Given the description of an element on the screen output the (x, y) to click on. 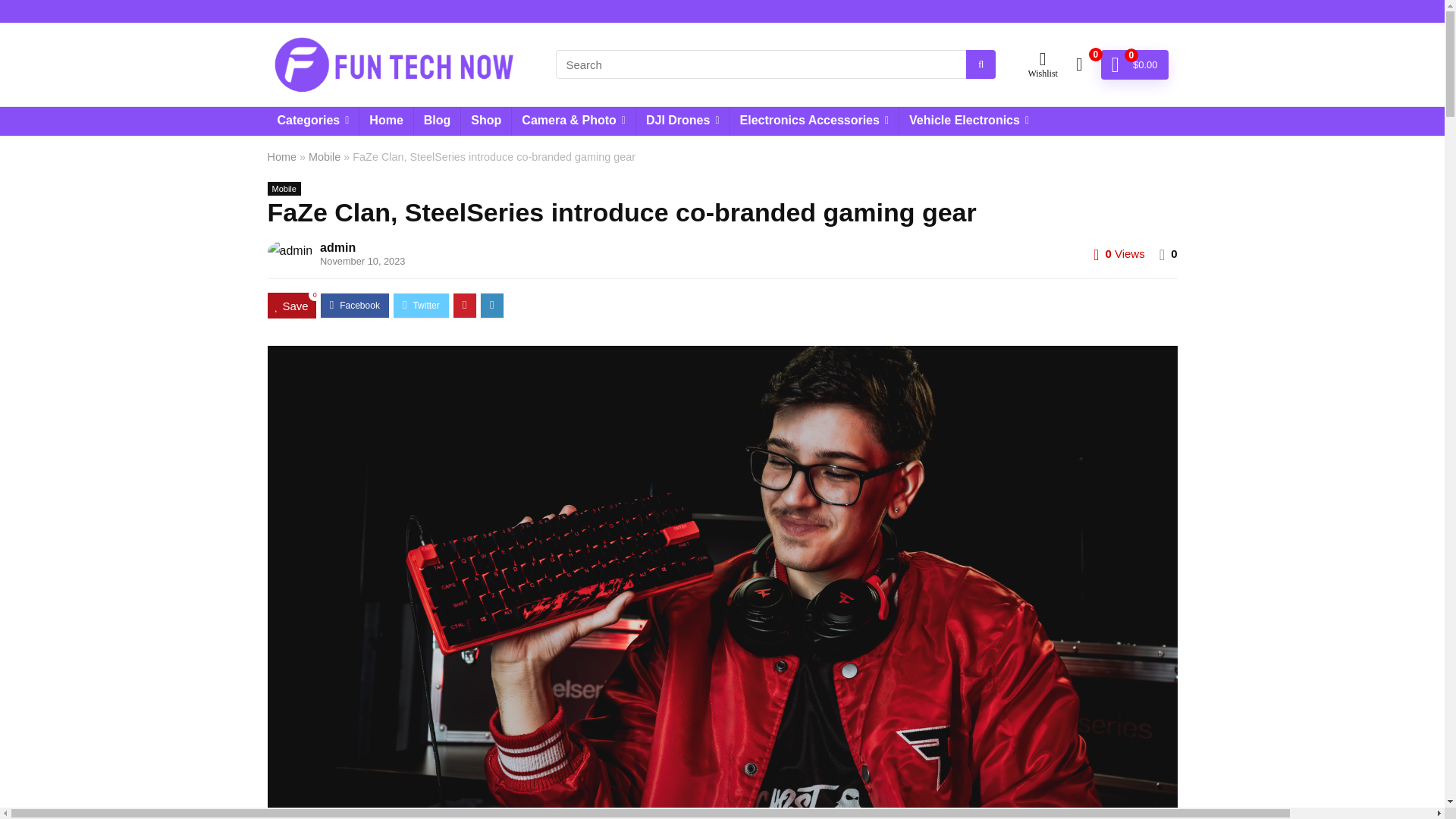
Home (385, 121)
Blog (437, 121)
View all posts in Mobile (282, 188)
Categories (312, 121)
